Given the description of an element on the screen output the (x, y) to click on. 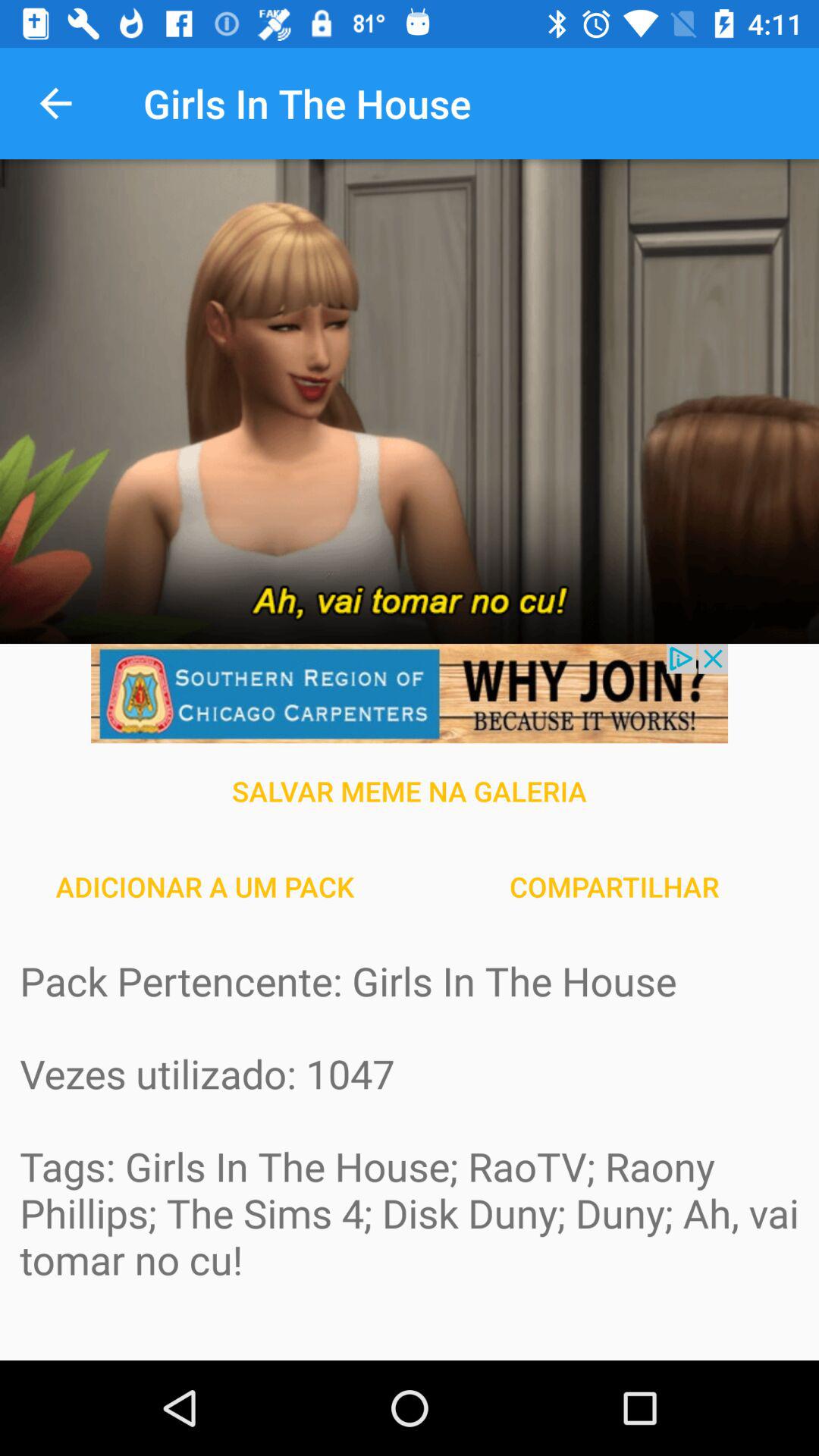
know about the advertisement (409, 693)
